Given the description of an element on the screen output the (x, y) to click on. 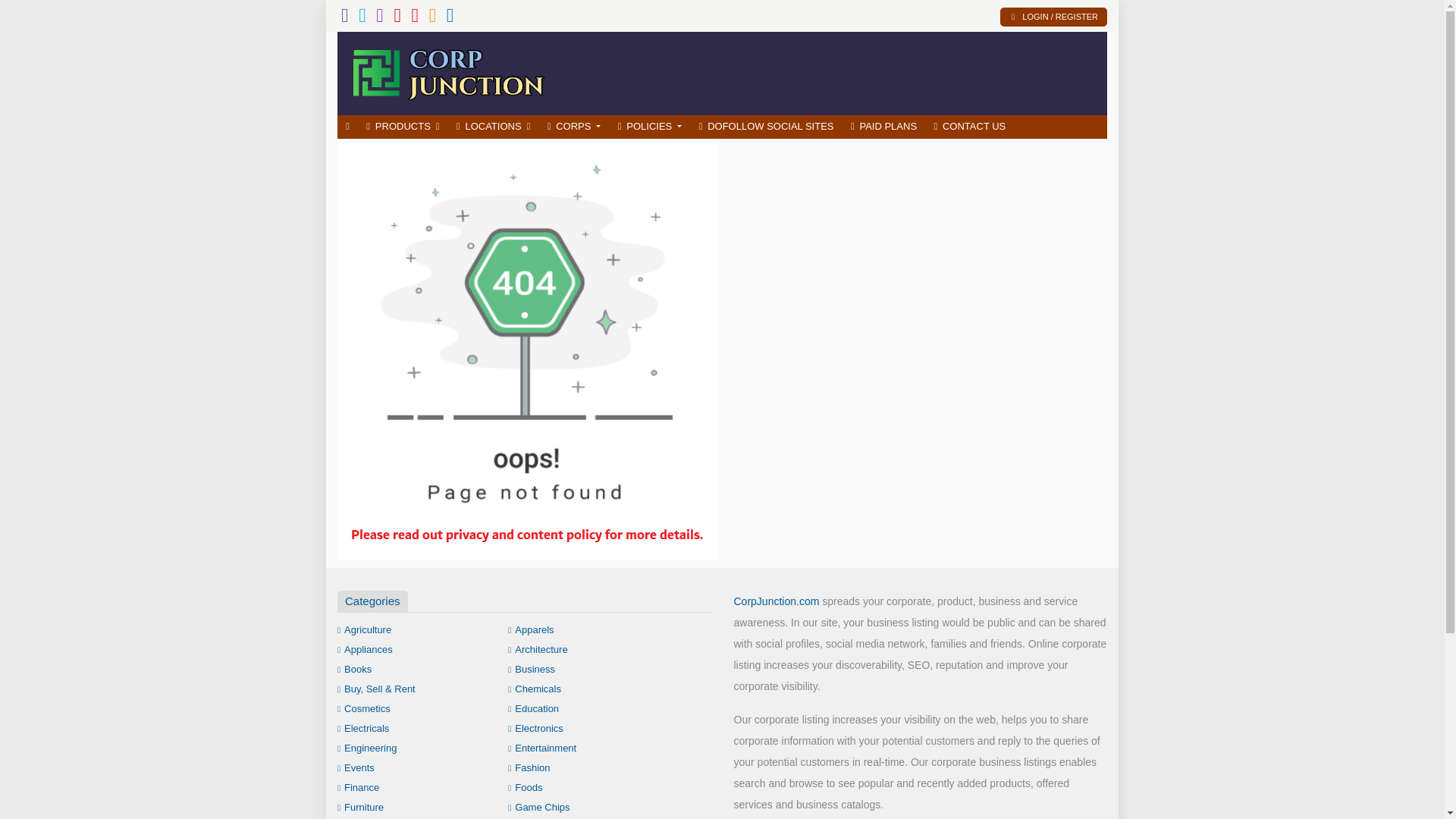
LOCATIONS (493, 126)
PRODUCTS (403, 126)
Web Discovery Service for People to Discover Great Products (447, 71)
